Given the description of an element on the screen output the (x, y) to click on. 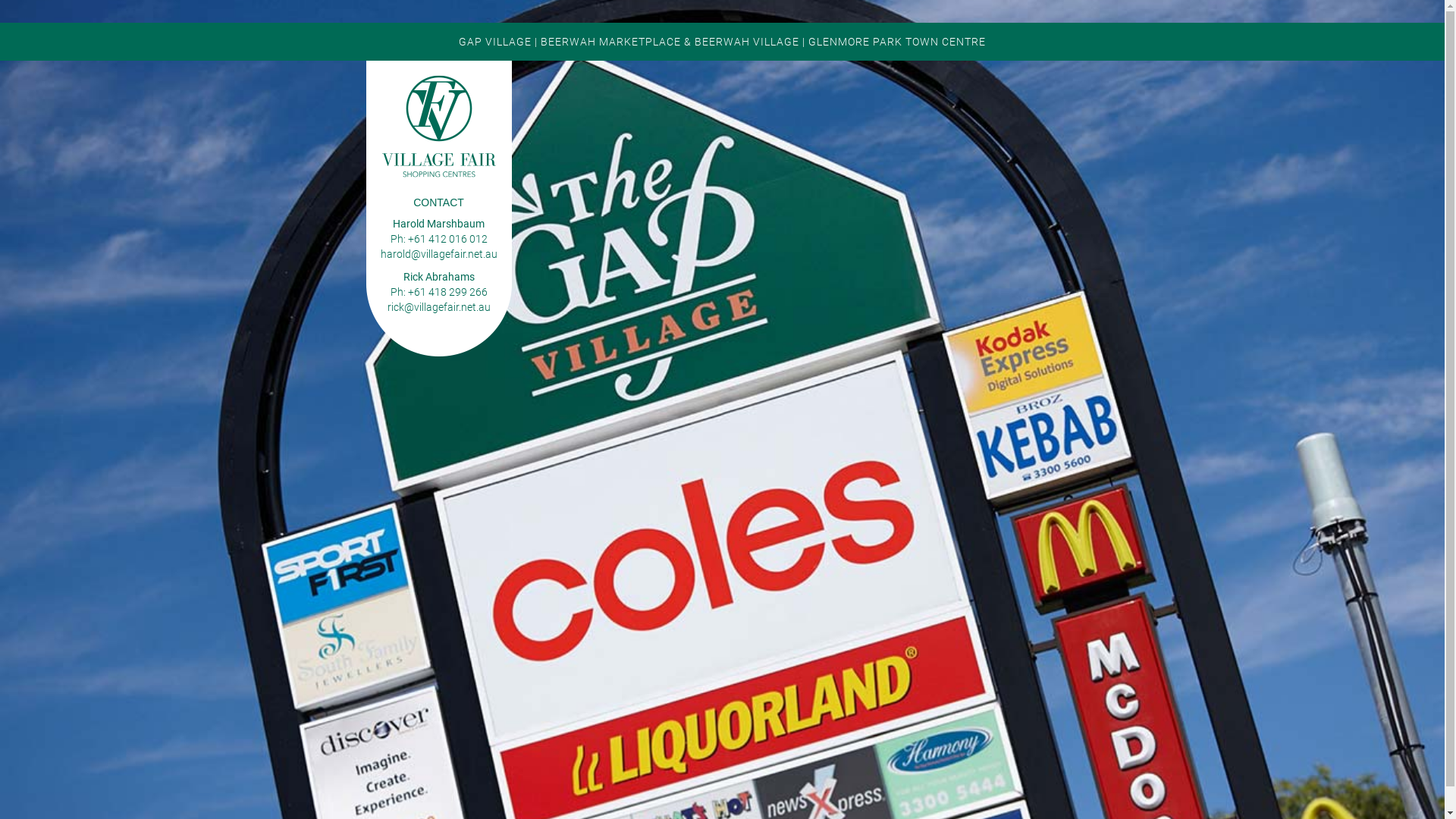
rick@villagefair.net.au Element type: text (437, 307)
harold@villagefair.net.au Element type: text (438, 253)
